Given the description of an element on the screen output the (x, y) to click on. 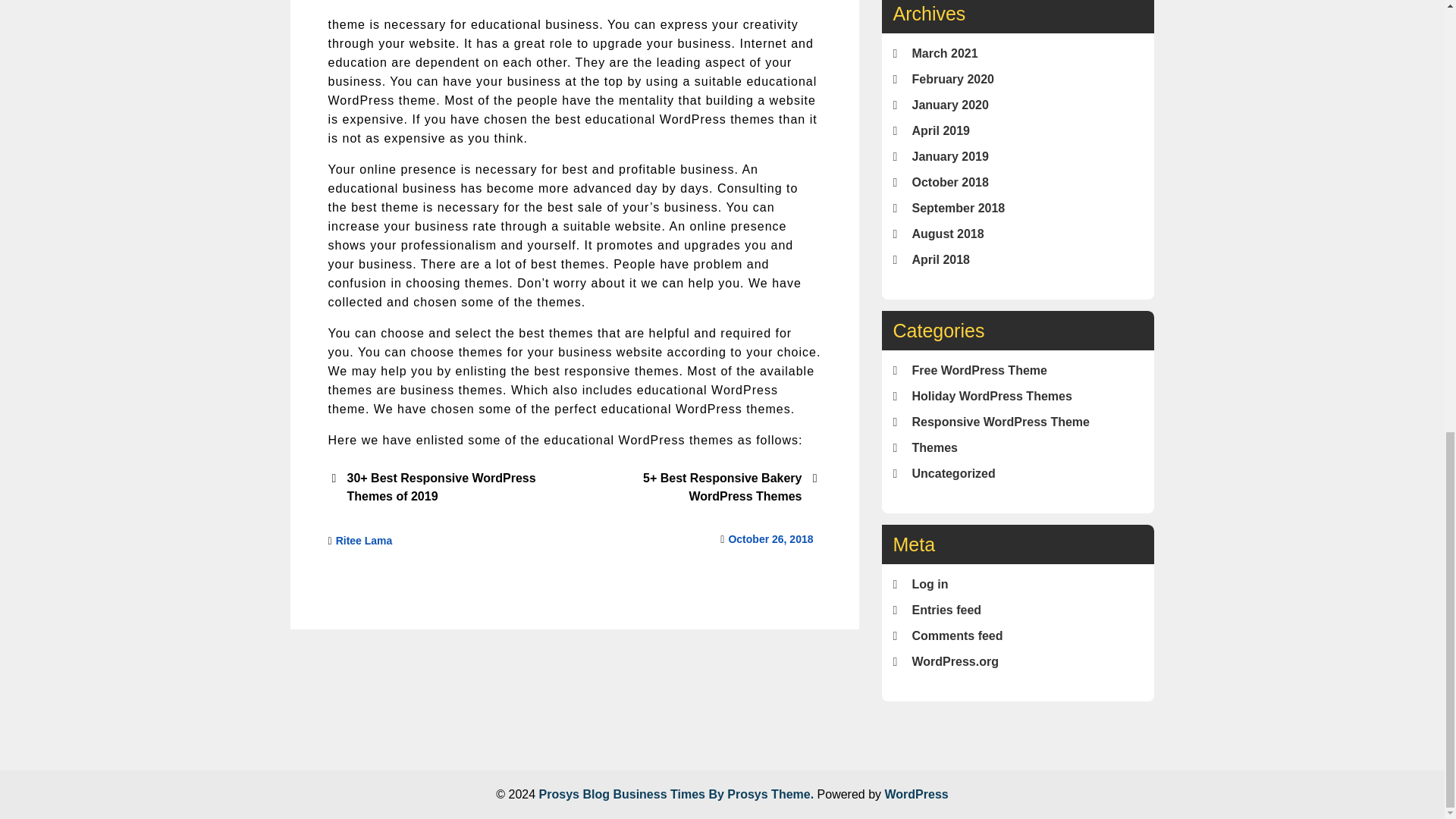
Comments feed (957, 635)
Responsive WordPress Theme (1000, 421)
Free WordPress Theme (978, 369)
September 2018 (957, 207)
WordPress.org (954, 661)
Holiday WordPress Themes (991, 395)
Business Times By Prosys Theme. (714, 793)
Log in (929, 584)
March 2021 (943, 52)
Themes (933, 447)
